Given the description of an element on the screen output the (x, y) to click on. 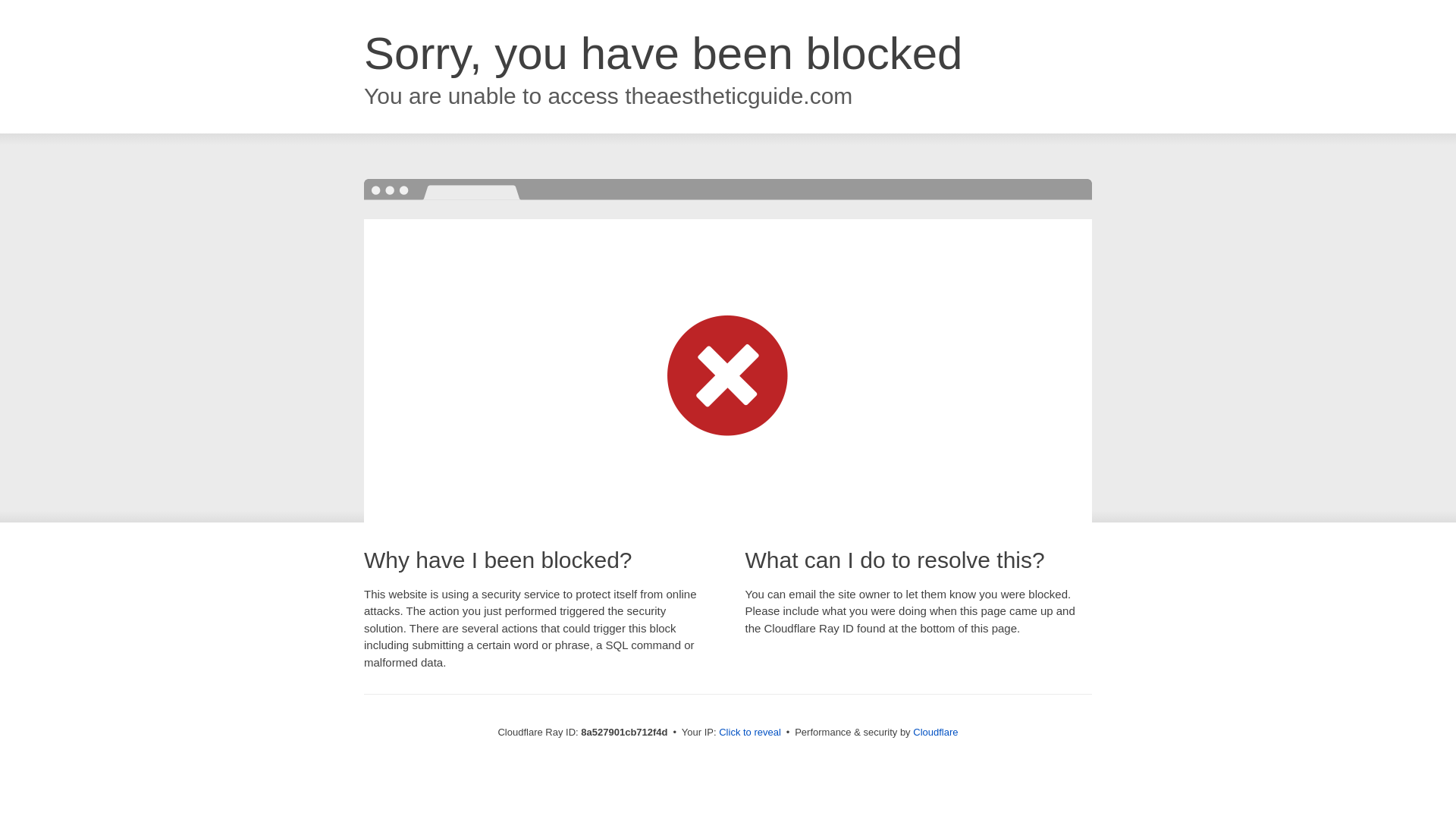
Click to reveal (749, 732)
Cloudflare (935, 731)
